Given the description of an element on the screen output the (x, y) to click on. 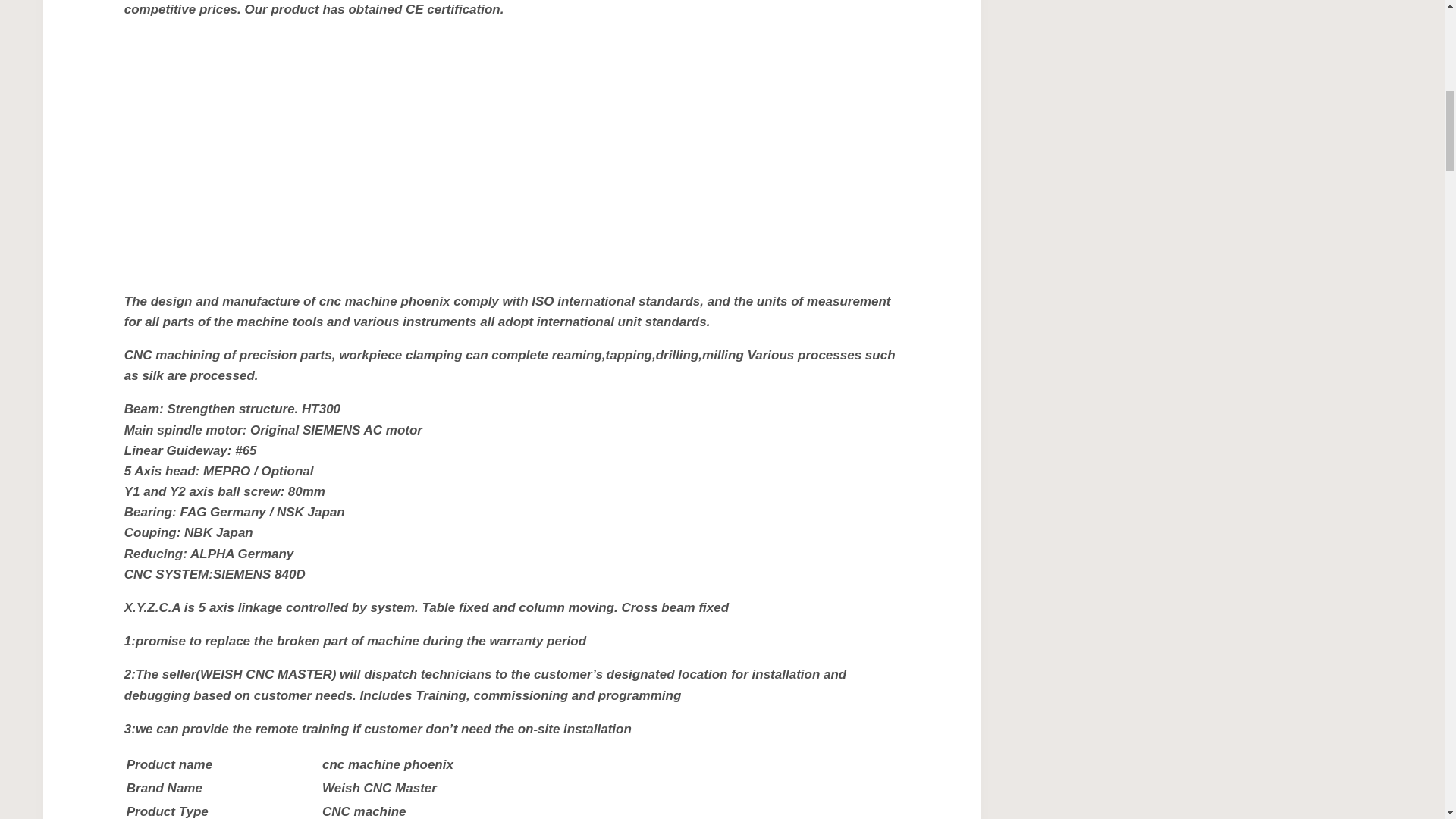
YouTube video player (335, 151)
